Given the description of an element on the screen output the (x, y) to click on. 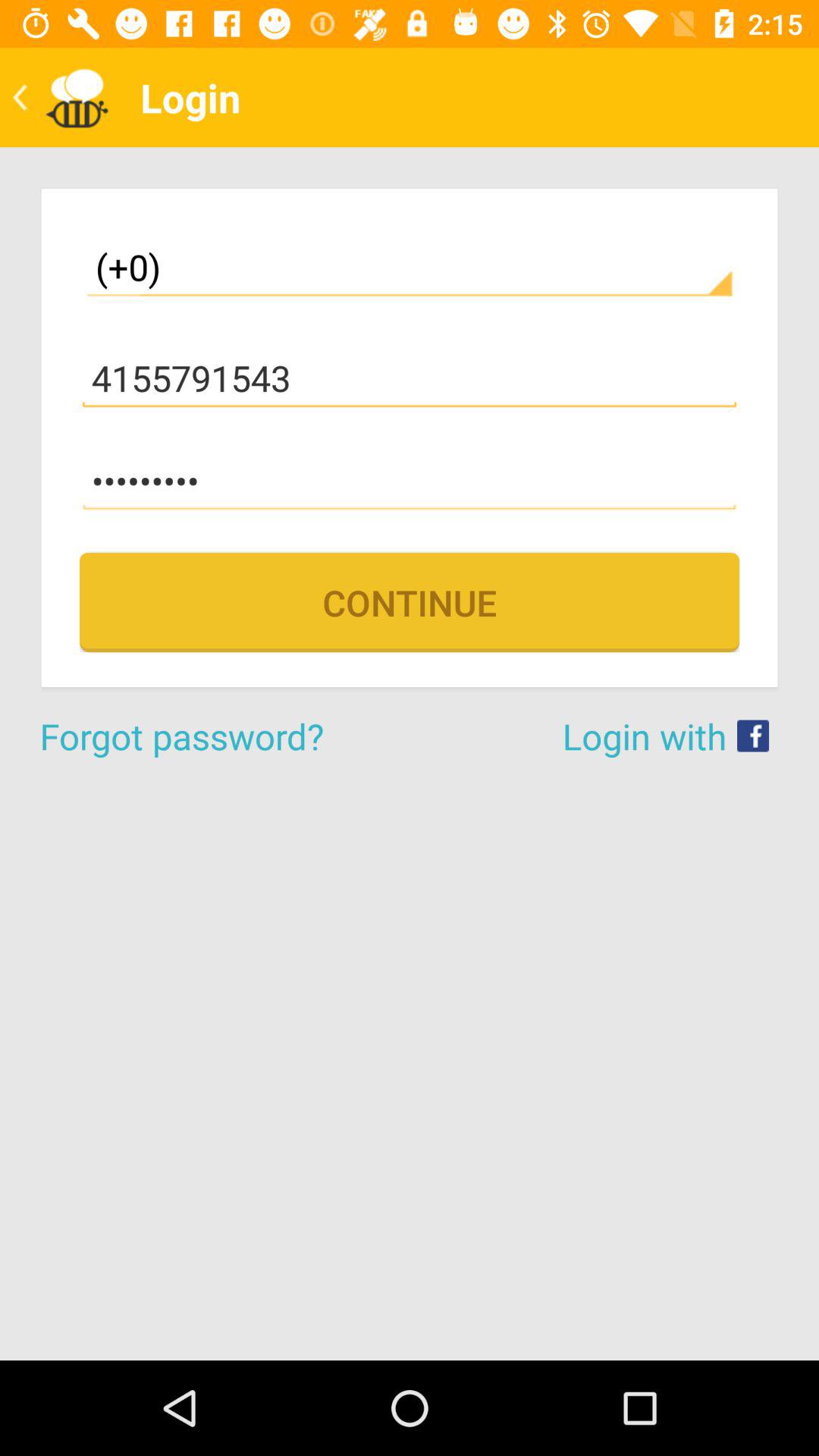
press the (+0) icon (409, 266)
